Given the description of an element on the screen output the (x, y) to click on. 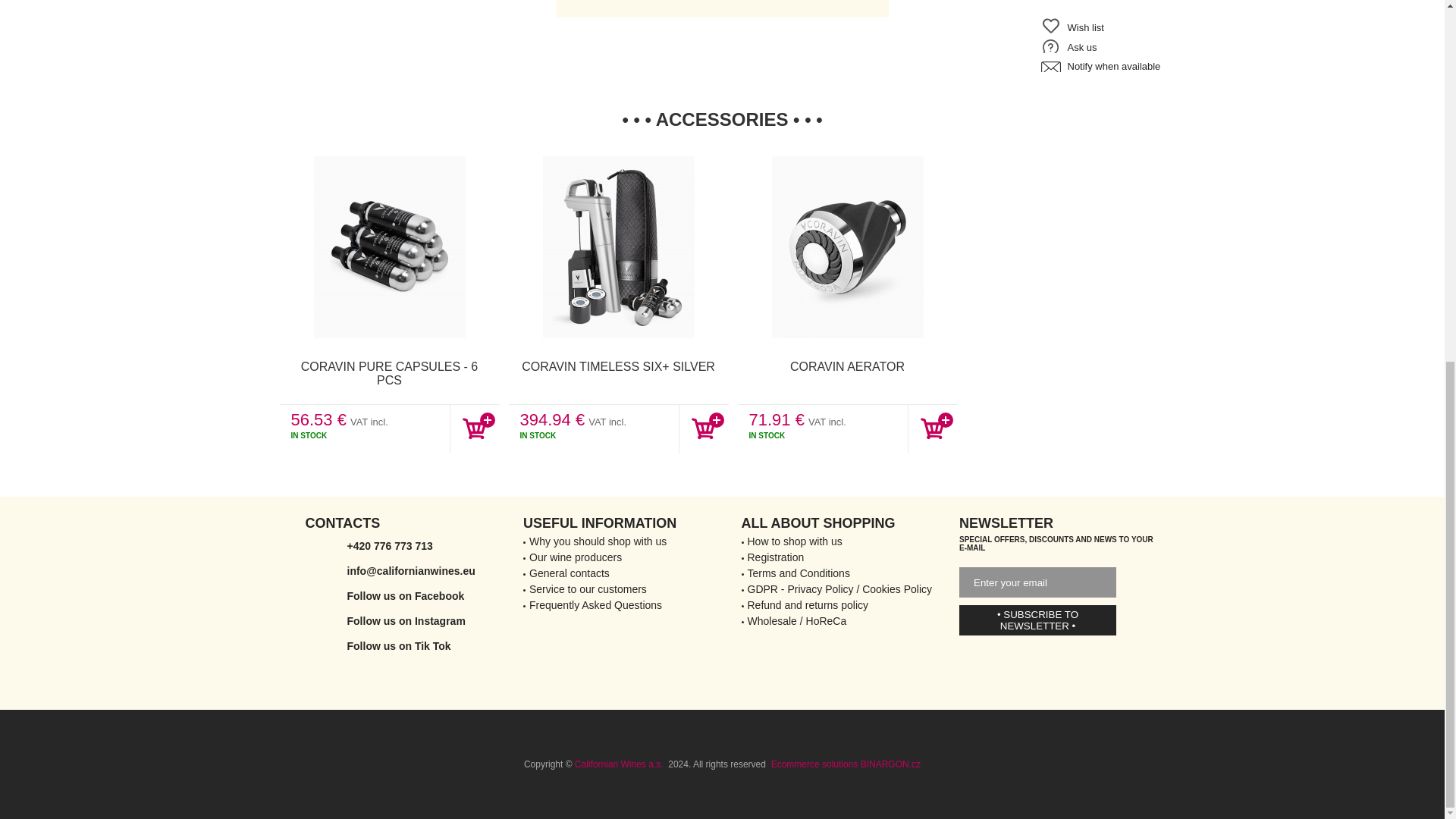
Coravin Pure Capsules - 6 pcs (389, 373)
Coravin Pure capsules - 6 pcs (389, 247)
